Given the description of an element on the screen output the (x, y) to click on. 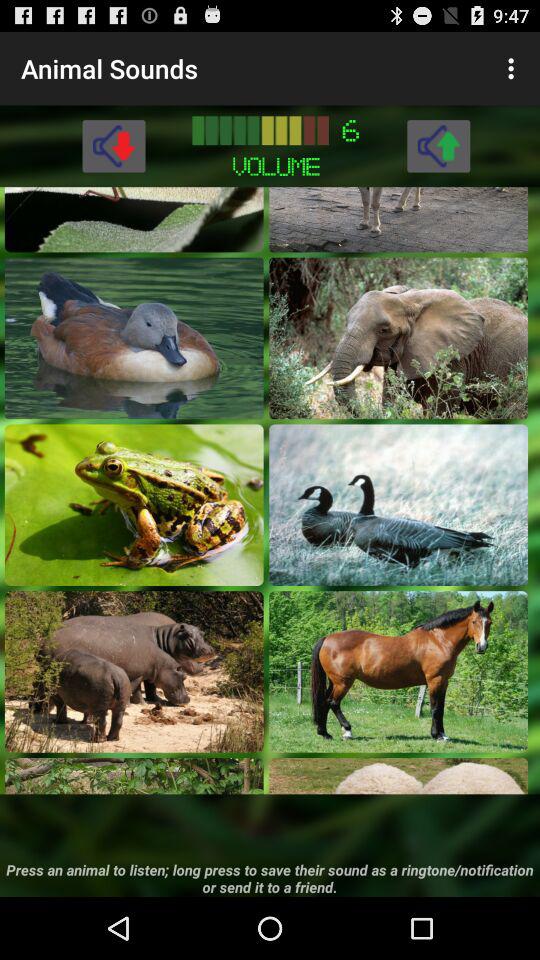
play animal sound (398, 504)
